Given the description of an element on the screen output the (x, y) to click on. 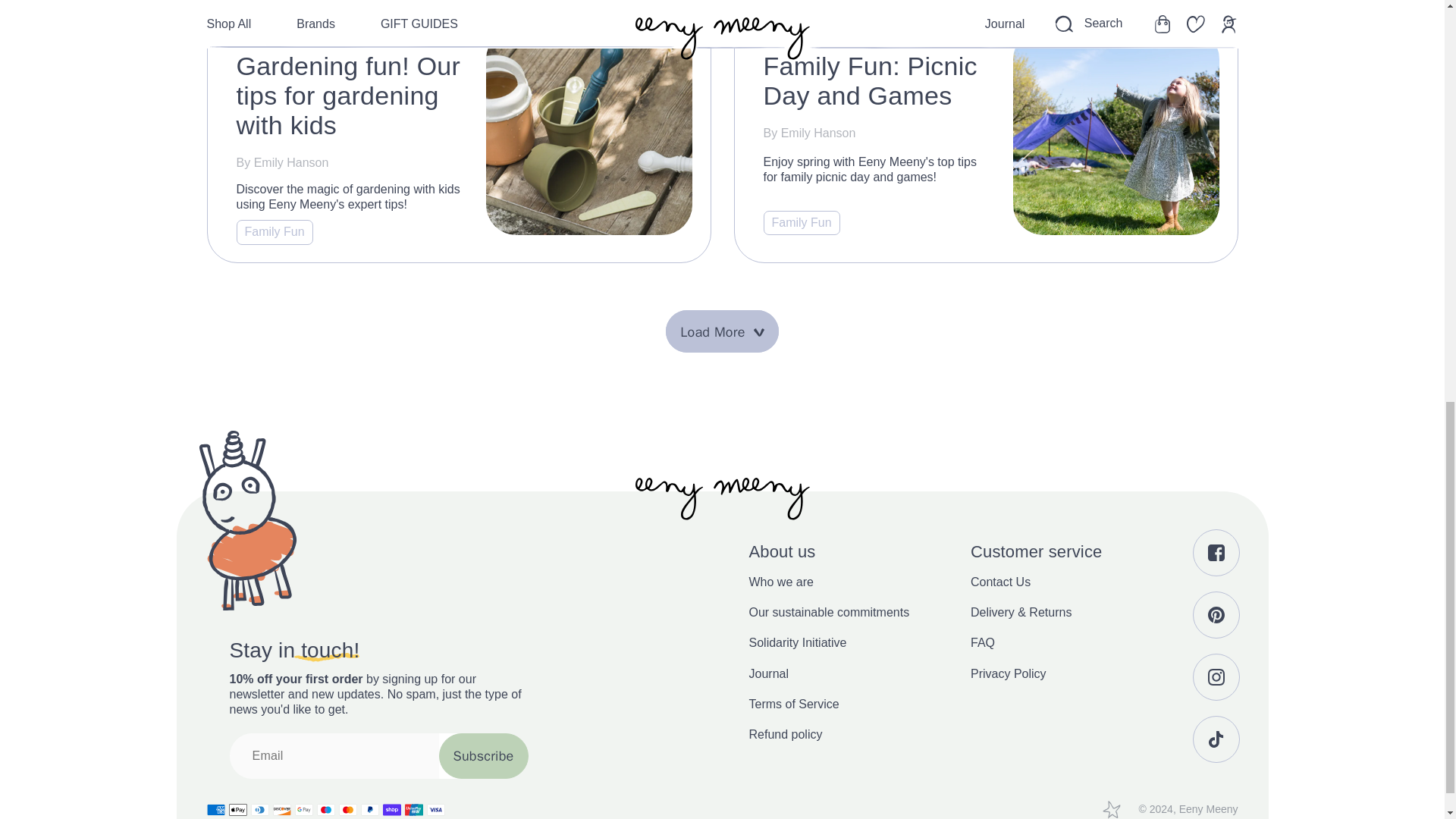
Google Pay (303, 809)
American Express (215, 809)
Mastercard (346, 809)
PayPal (369, 809)
Apple Pay (237, 809)
Maestro (325, 809)
Discover (282, 809)
Diners Club (258, 809)
